Given the description of an element on the screen output the (x, y) to click on. 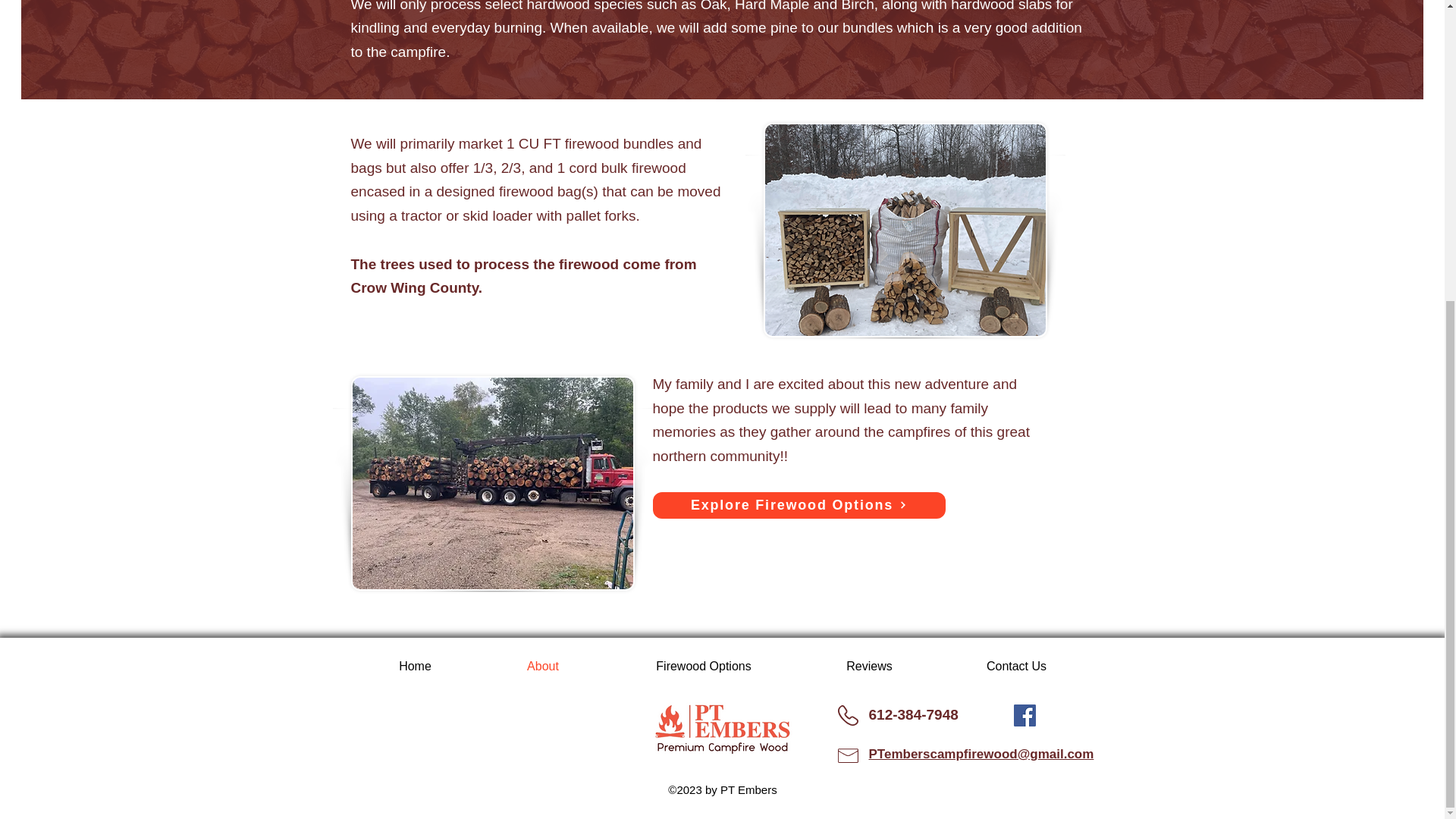
Explore Firewood Options (798, 505)
About (543, 666)
Reviews (869, 666)
Home (415, 666)
612-384-7948 (913, 714)
Firewood Options (703, 666)
Contact Us (1016, 666)
